Given the description of an element on the screen output the (x, y) to click on. 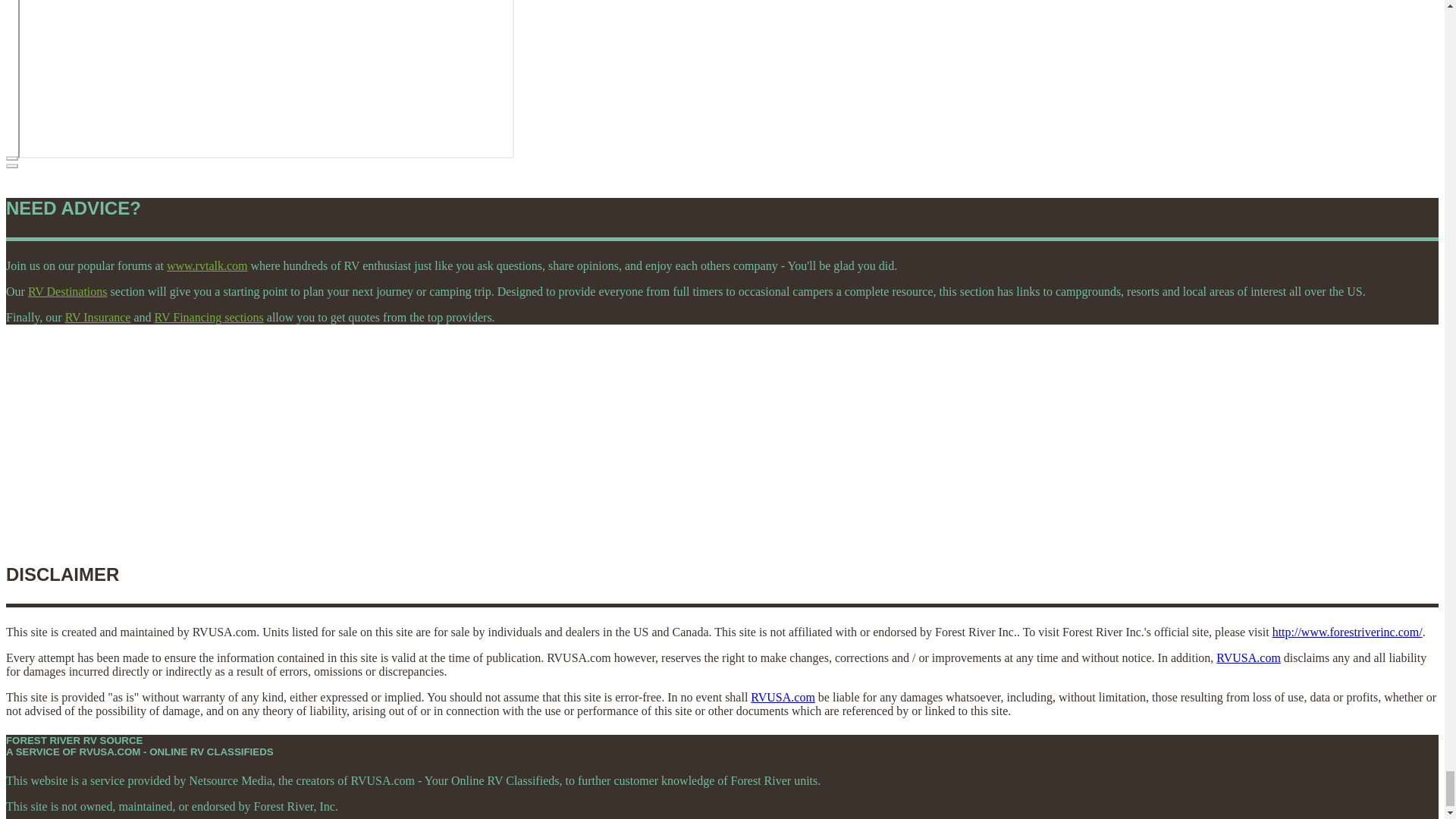
RV Financing sections (208, 317)
RVUSA.com (1248, 657)
RV Destinations (67, 291)
RV Insurance (98, 317)
RVUSA.com (783, 697)
www.rvtalk.com (207, 265)
